Given the description of an element on the screen output the (x, y) to click on. 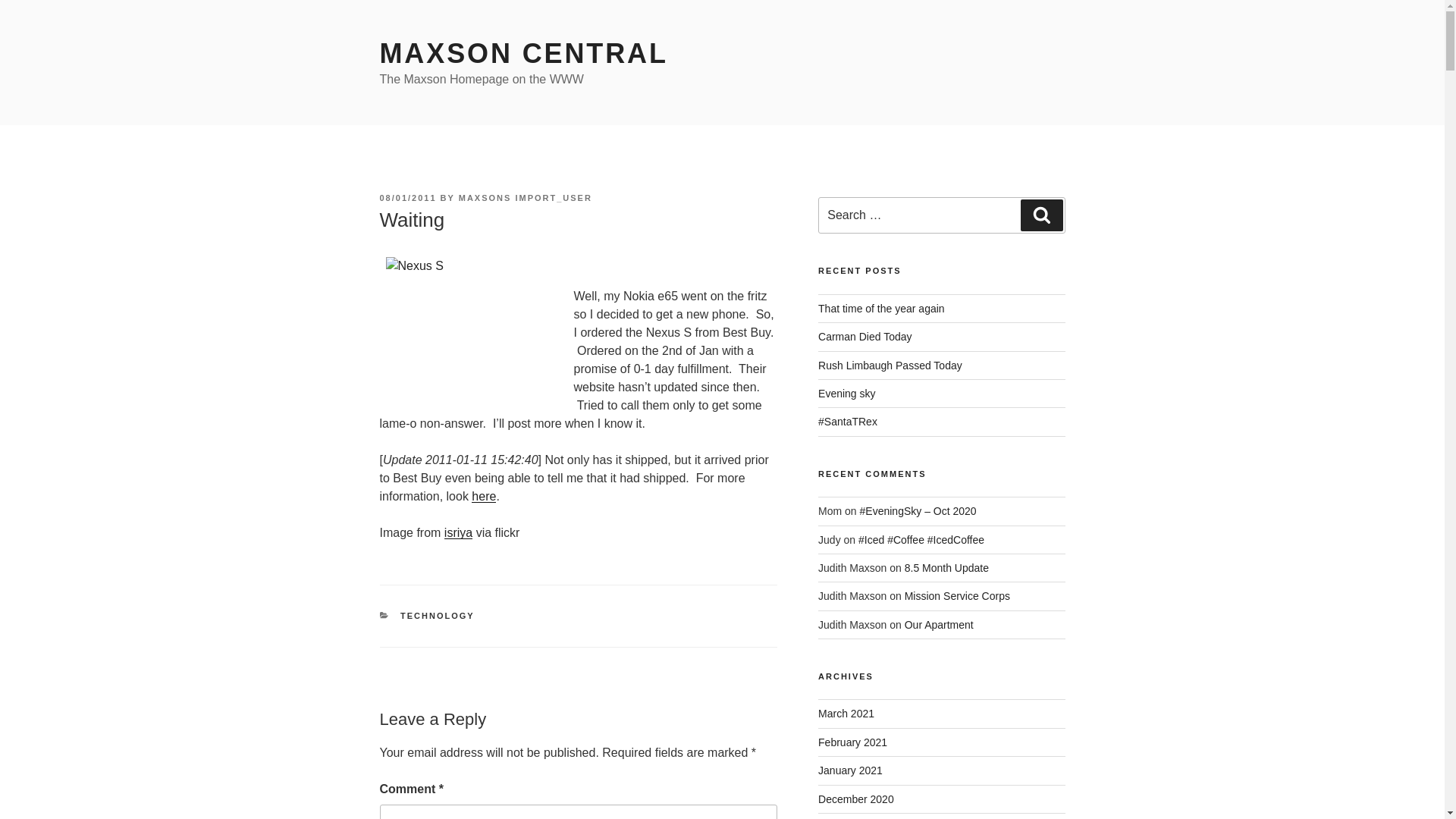
Search (1041, 214)
December 2020 (855, 799)
February 2021 (852, 742)
That time of the year again (881, 308)
March 2021 (846, 713)
8.5 Month Update (946, 567)
January 2021 (850, 770)
isriya (457, 532)
TECHNOLOGY (437, 614)
Carman Died Today (864, 336)
Rush Limbaugh Passed Today (890, 365)
here (483, 495)
Our Apartment (939, 624)
Evening sky (846, 393)
MAXSON CENTRAL (522, 52)
